Given the description of an element on the screen output the (x, y) to click on. 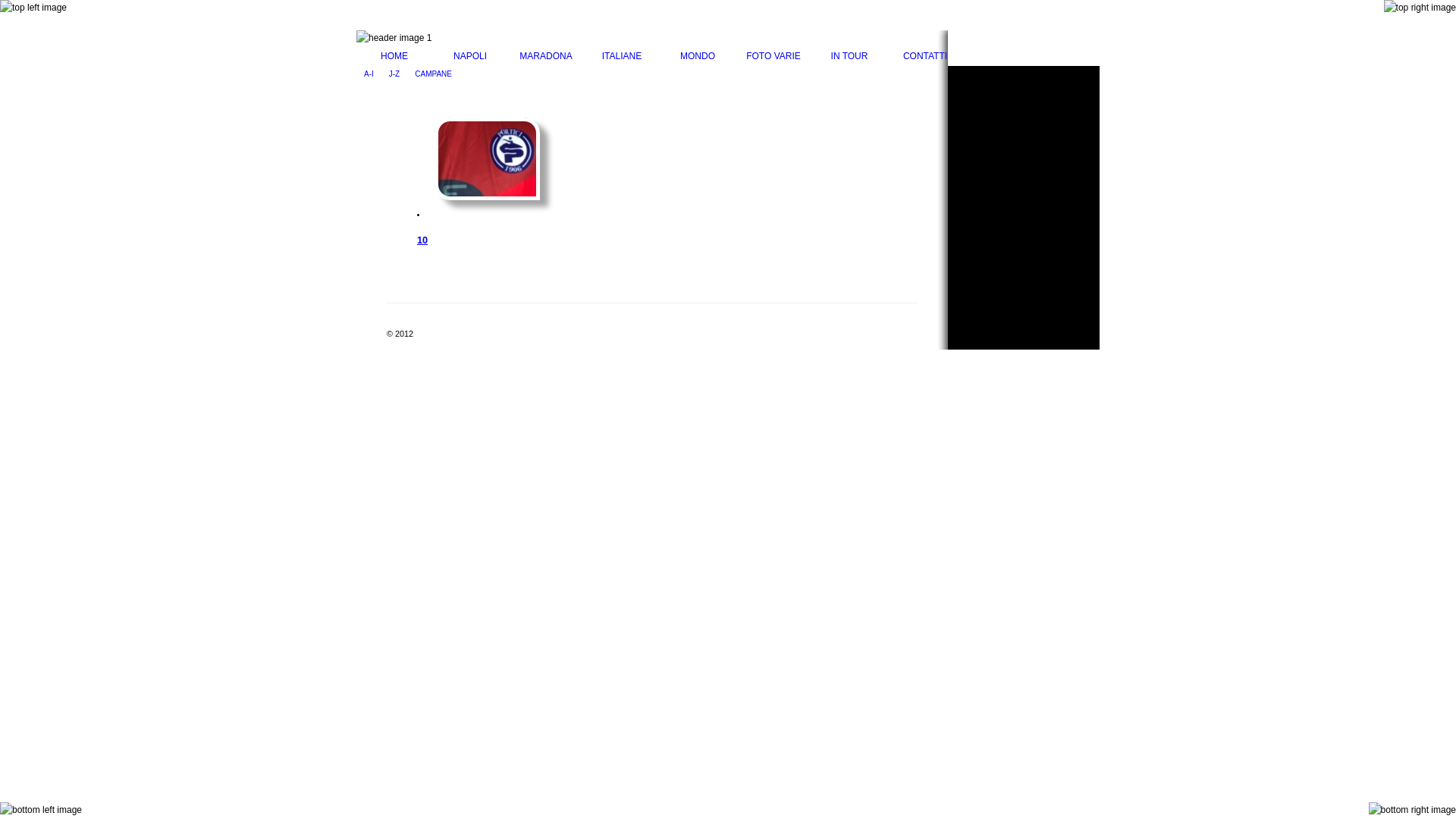
ITALIANE Element type: text (621, 56)
10 Element type: text (422, 240)
MONDO Element type: text (697, 56)
HOME Element type: text (394, 56)
IN TOUR Element type: text (849, 56)
J-Z Element type: text (394, 75)
FOTO VARIE Element type: text (773, 56)
CONTATTI Element type: text (925, 56)
NAPOLI Element type: text (470, 56)
A-I Element type: text (368, 75)
MARADONA Element type: text (545, 56)
CAMPANE Element type: text (433, 75)
